Given the description of an element on the screen output the (x, y) to click on. 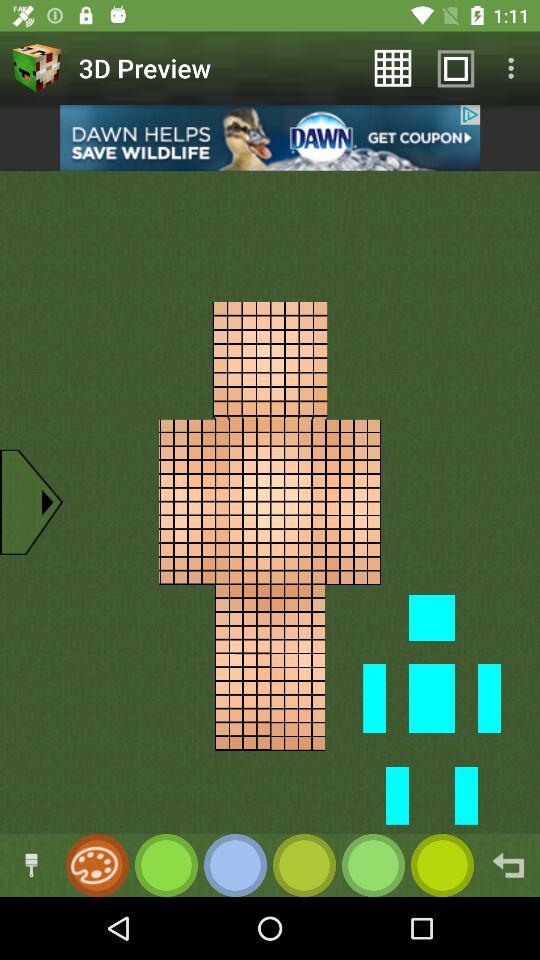
click to change color (31, 865)
